Given the description of an element on the screen output the (x, y) to click on. 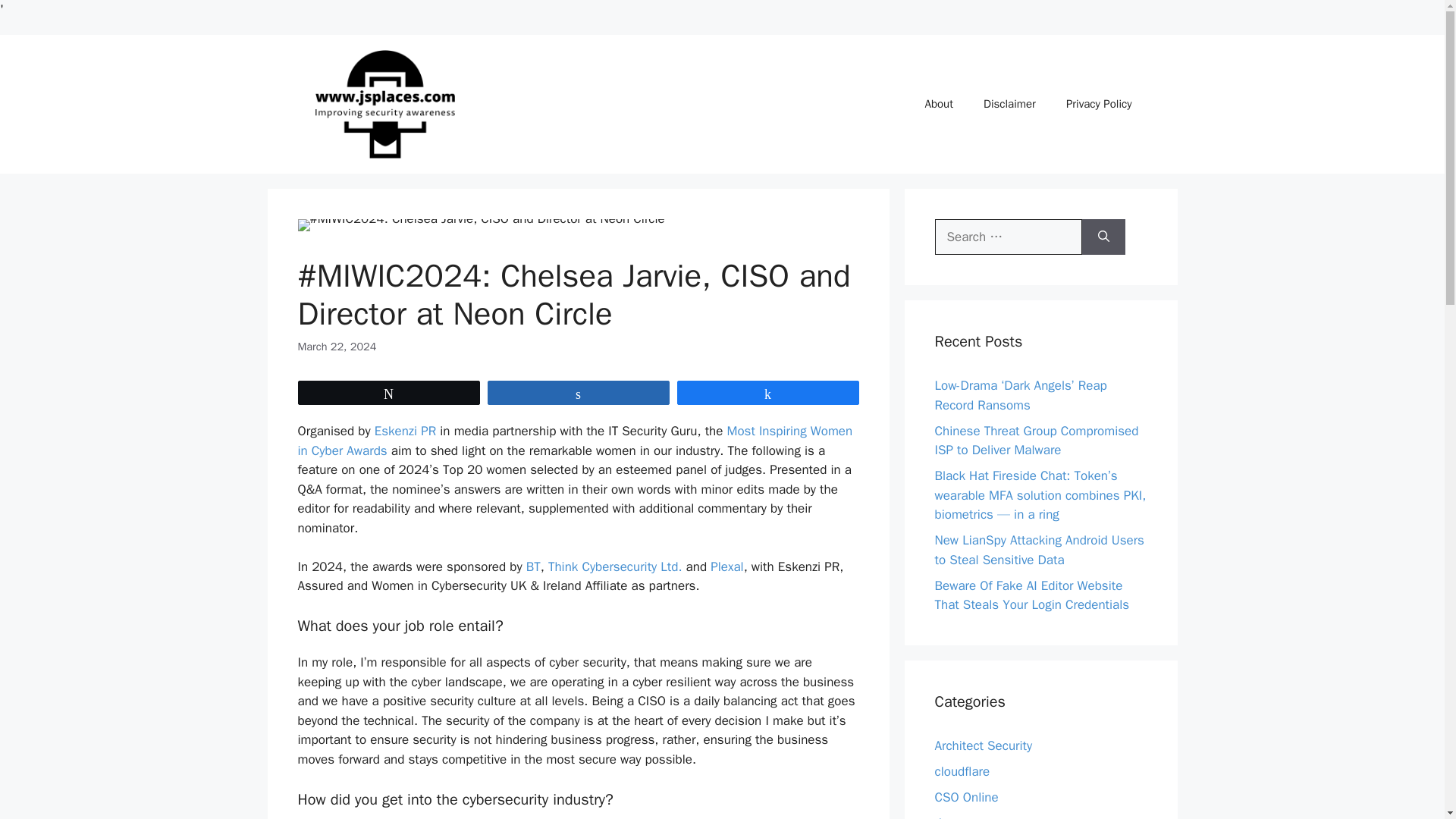
Plexal (726, 566)
Disclaimer (1009, 103)
Search for: (1007, 237)
cloudflare (962, 771)
New LianSpy Attacking Android Users to Steal Sensitive Data (1038, 550)
Architect Security (983, 745)
About (939, 103)
Chinese Threat Group Compromised ISP to Deliver Malware (1036, 440)
CSO Online (965, 797)
